Given the description of an element on the screen output the (x, y) to click on. 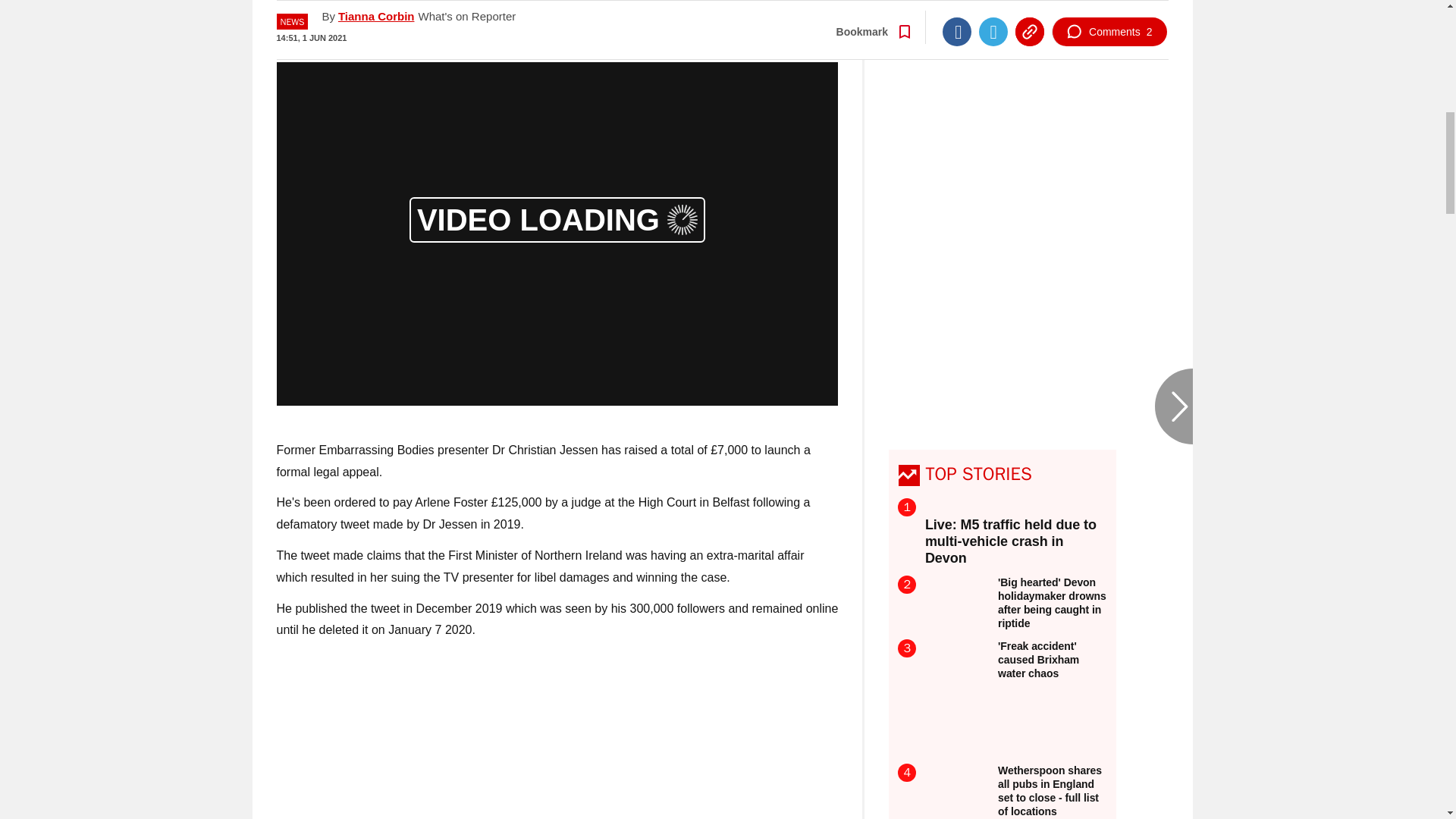
Go (730, 13)
